Given the description of an element on the screen output the (x, y) to click on. 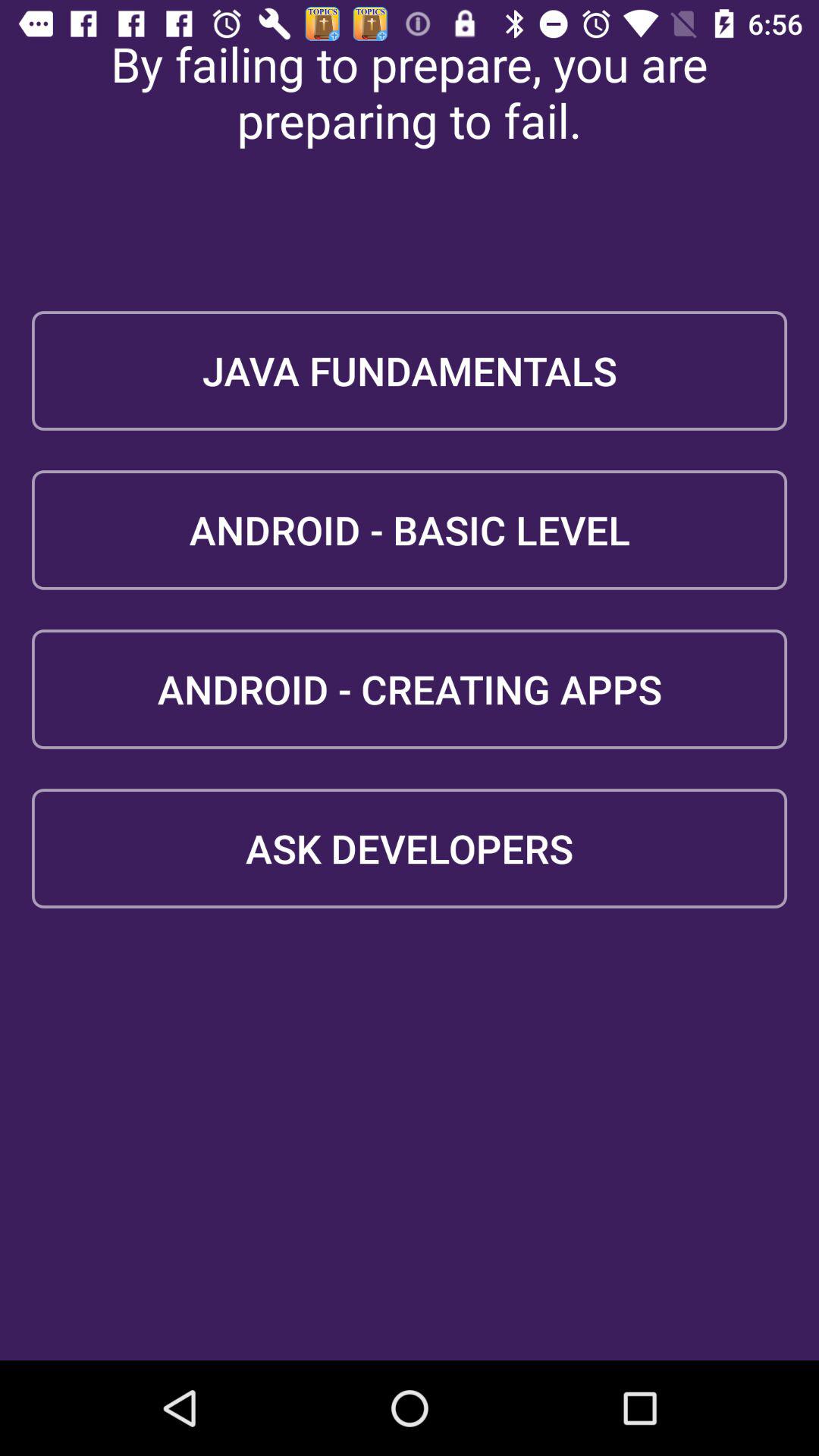
jump until the android - basic level item (409, 529)
